Given the description of an element on the screen output the (x, y) to click on. 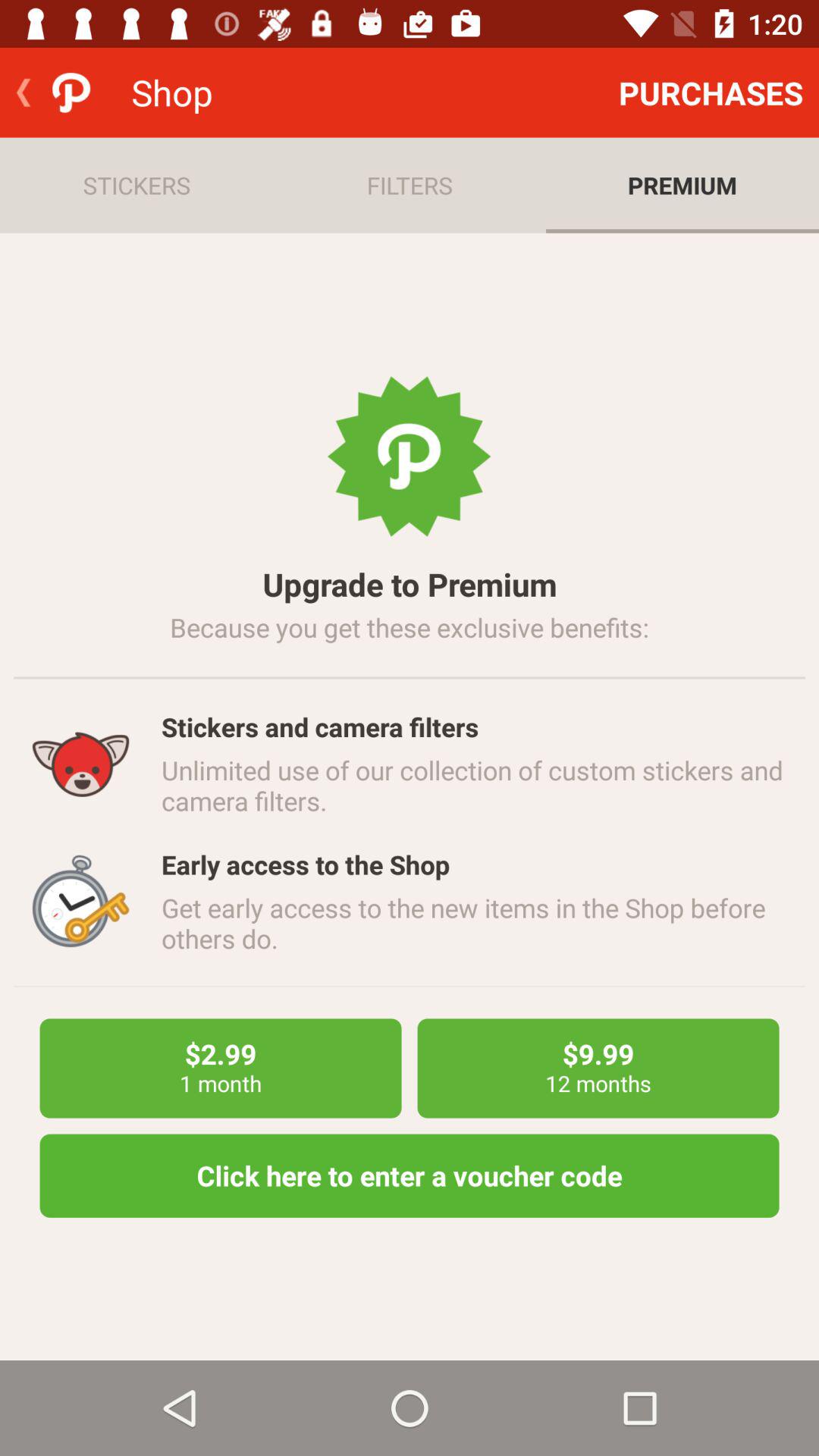
select the click here to item (409, 1175)
